Given the description of an element on the screen output the (x, y) to click on. 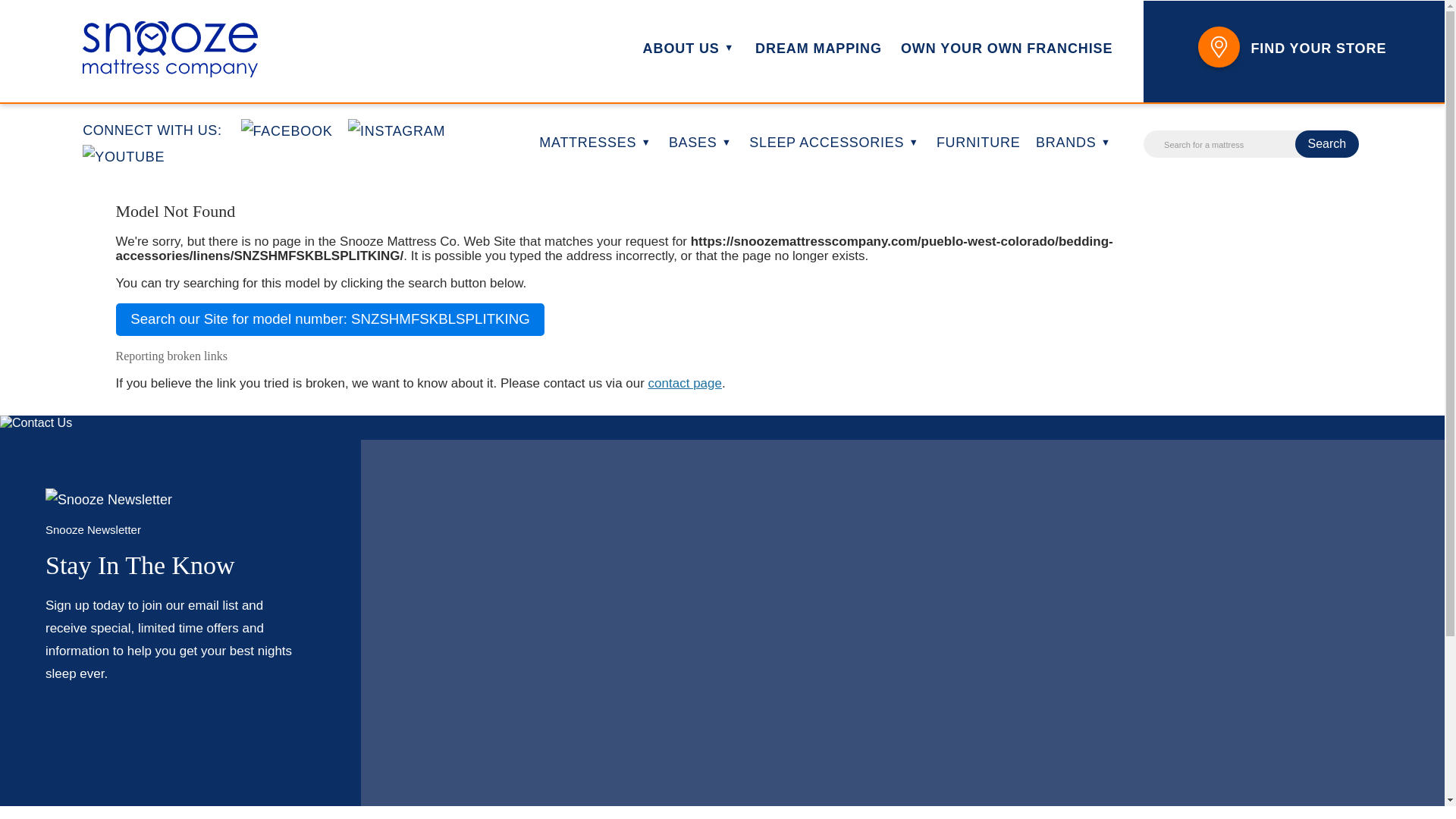
BASES (700, 143)
BRANDS (1073, 143)
Search (1327, 144)
SLEEP ACCESSORIES (834, 143)
Search our Site for model number: SNZSHMFSKBLSPLITKING (329, 319)
MATTRESSES (595, 143)
contact page (684, 382)
FURNITURE (978, 142)
OWN YOUR OWN FRANCHISE (1006, 48)
FIND YOUR STORE (1289, 49)
